Given the description of an element on the screen output the (x, y) to click on. 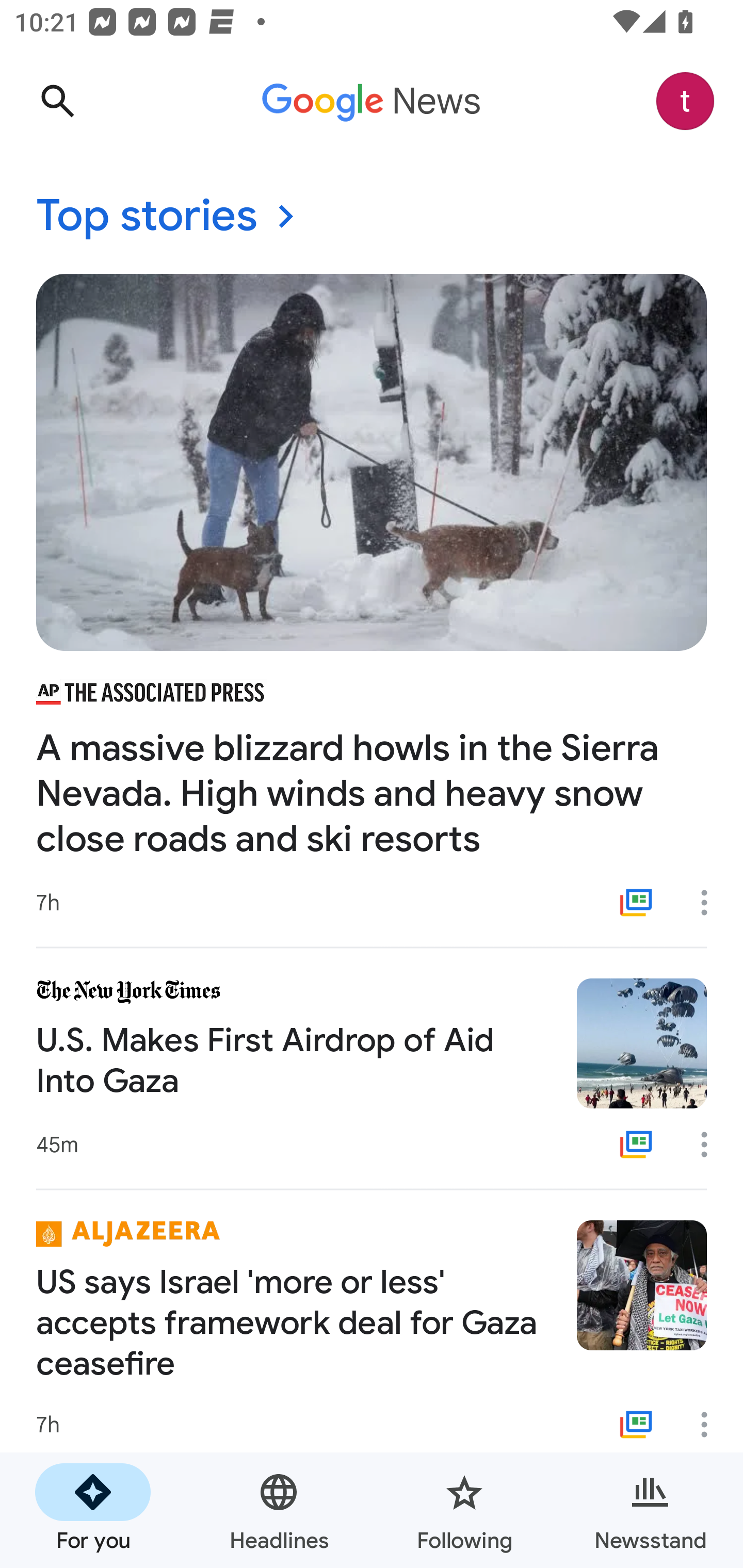
Search (57, 100)
Top stories (371, 216)
More options (711, 902)
More options (711, 1144)
More options (711, 1424)
For you (92, 1509)
Headlines (278, 1509)
Following (464, 1509)
Newsstand (650, 1509)
